Given the description of an element on the screen output the (x, y) to click on. 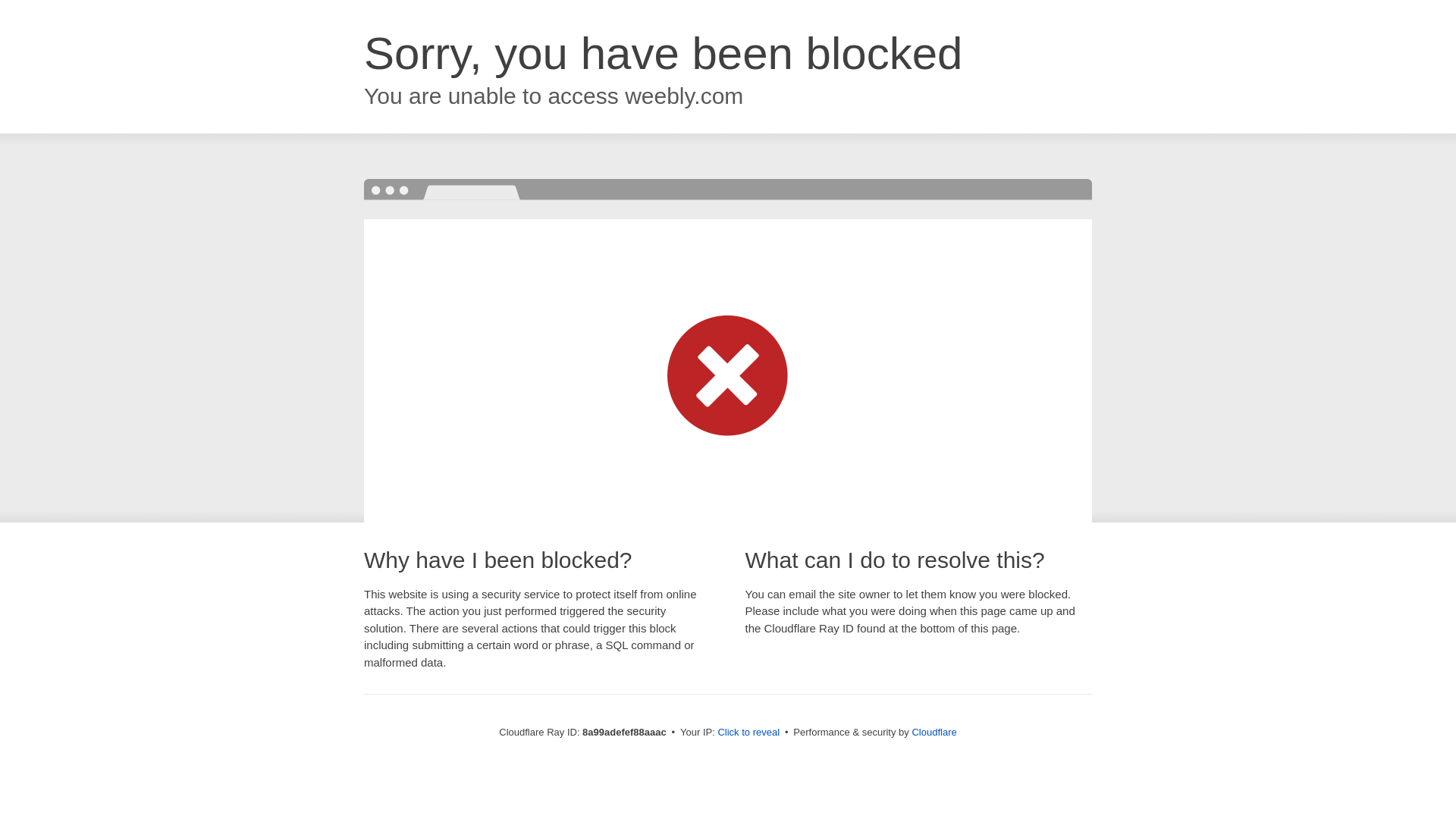
Cloudflare (933, 731)
Click to reveal (747, 732)
